Given the description of an element on the screen output the (x, y) to click on. 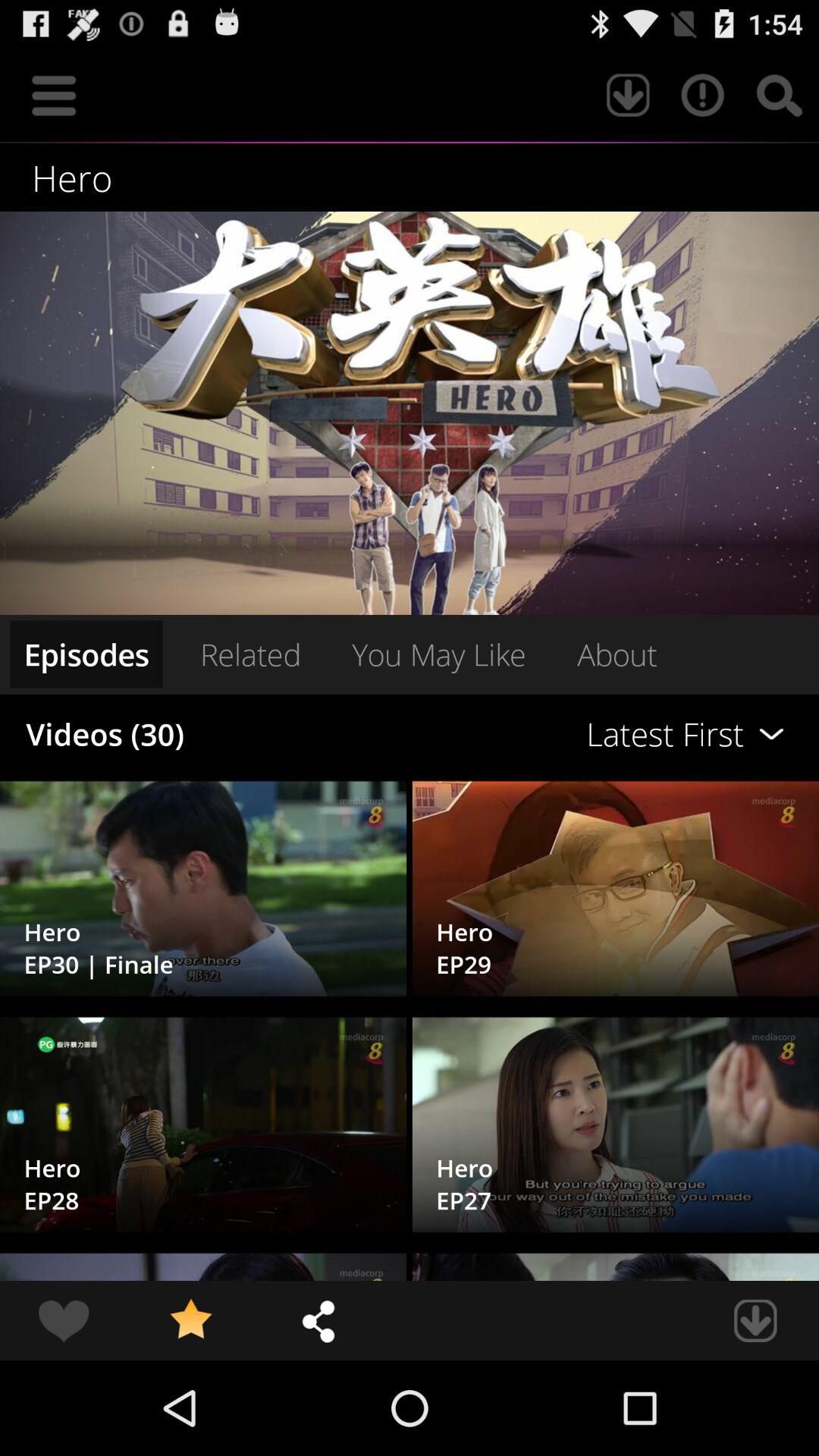
open item to the right of related icon (438, 654)
